Given the description of an element on the screen output the (x, y) to click on. 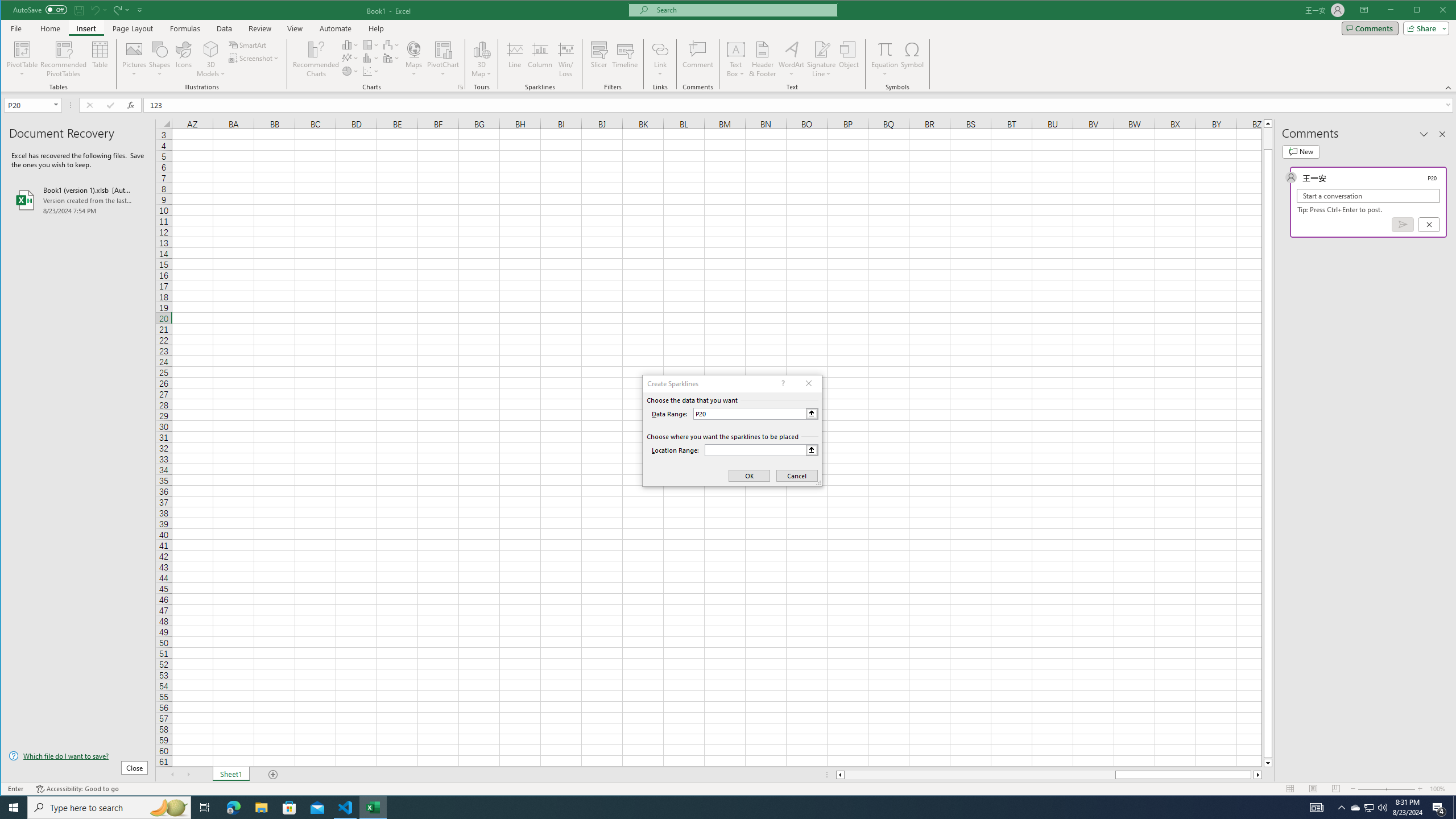
Insert Pie or Doughnut Chart (350, 70)
Recommended Charts (460, 86)
Page up (1267, 138)
Text Box (735, 59)
WordArt (791, 59)
Post comment (Ctrl + Enter) (1402, 224)
PivotTable (22, 59)
Icons (183, 59)
